Given the description of an element on the screen output the (x, y) to click on. 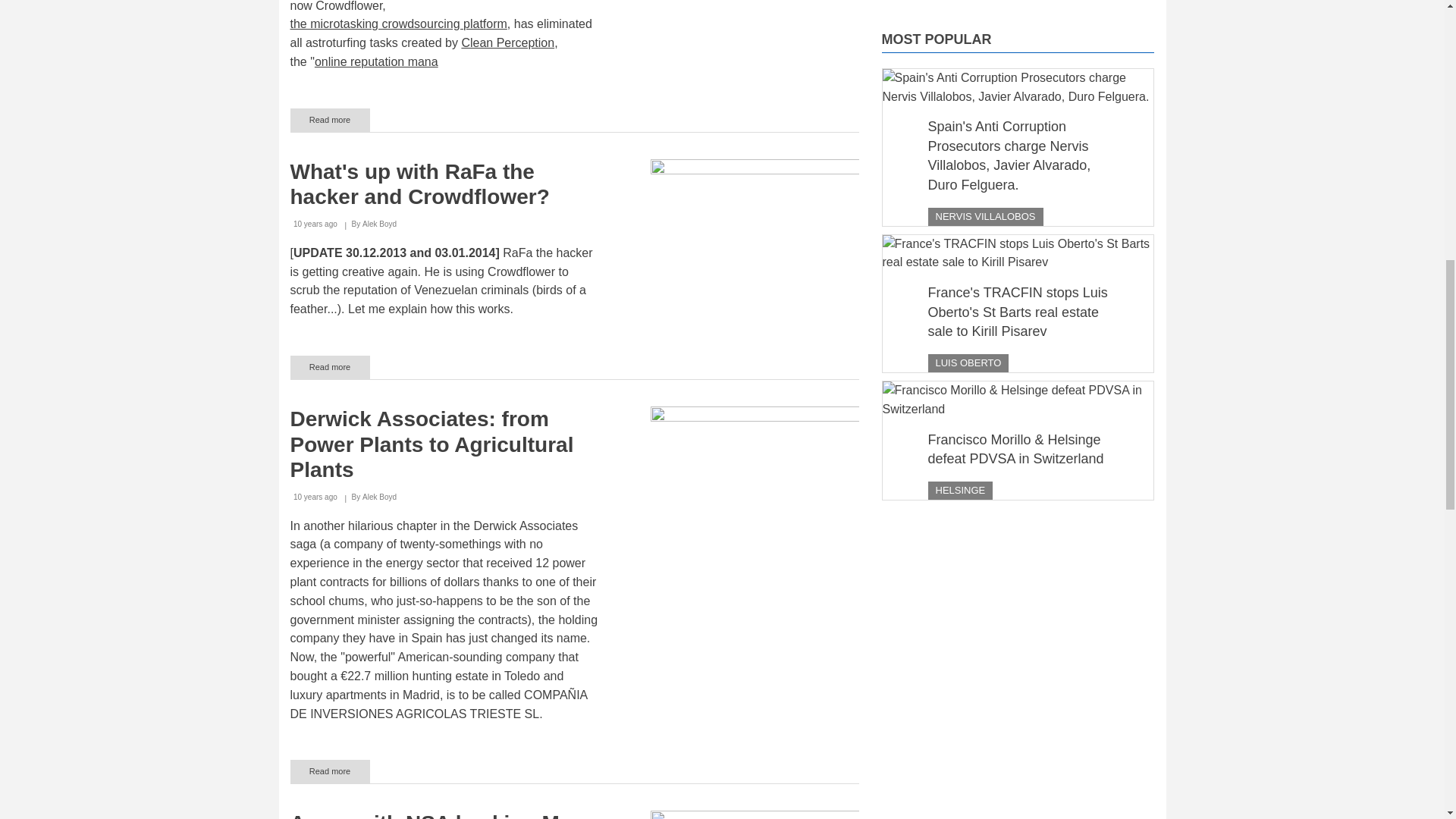
What's up with RaFa the hacker and Crowdflower? (418, 184)
online reputation mana (376, 61)
Clean Perception (507, 42)
Derwick Associates: from Power Plants to Agricultural Plants (431, 444)
Crowdflower suspends Clean Perception's astroturfing (329, 119)
What's up with RaFa the hacker and Crowdflower? (329, 367)
Derwick Associates: from Power Plants to Agricultural Plants (329, 771)
the microtasking crowdsourcing platform (397, 23)
